Given the description of an element on the screen output the (x, y) to click on. 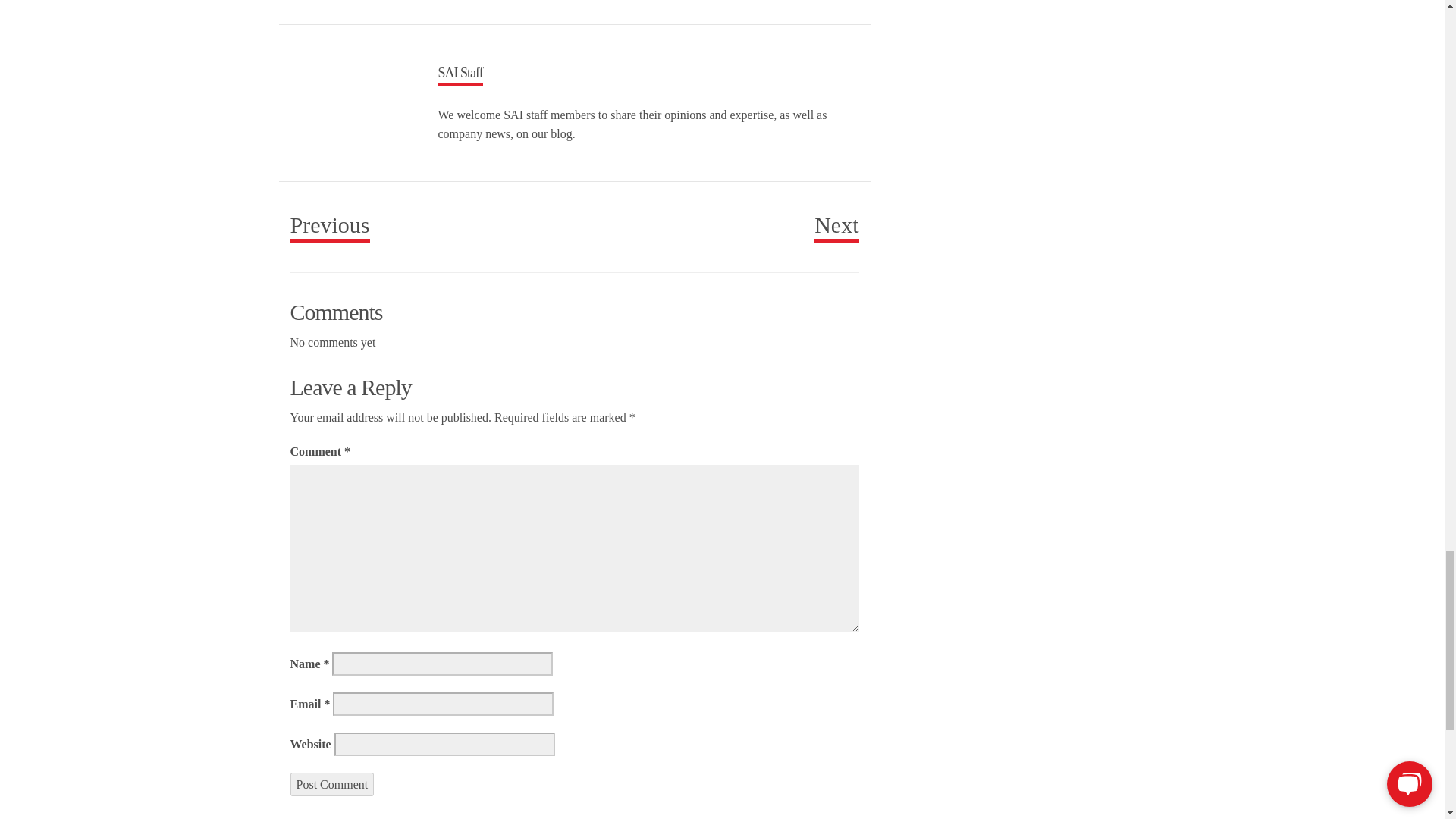
Post Comment (331, 783)
